Given the description of an element on the screen output the (x, y) to click on. 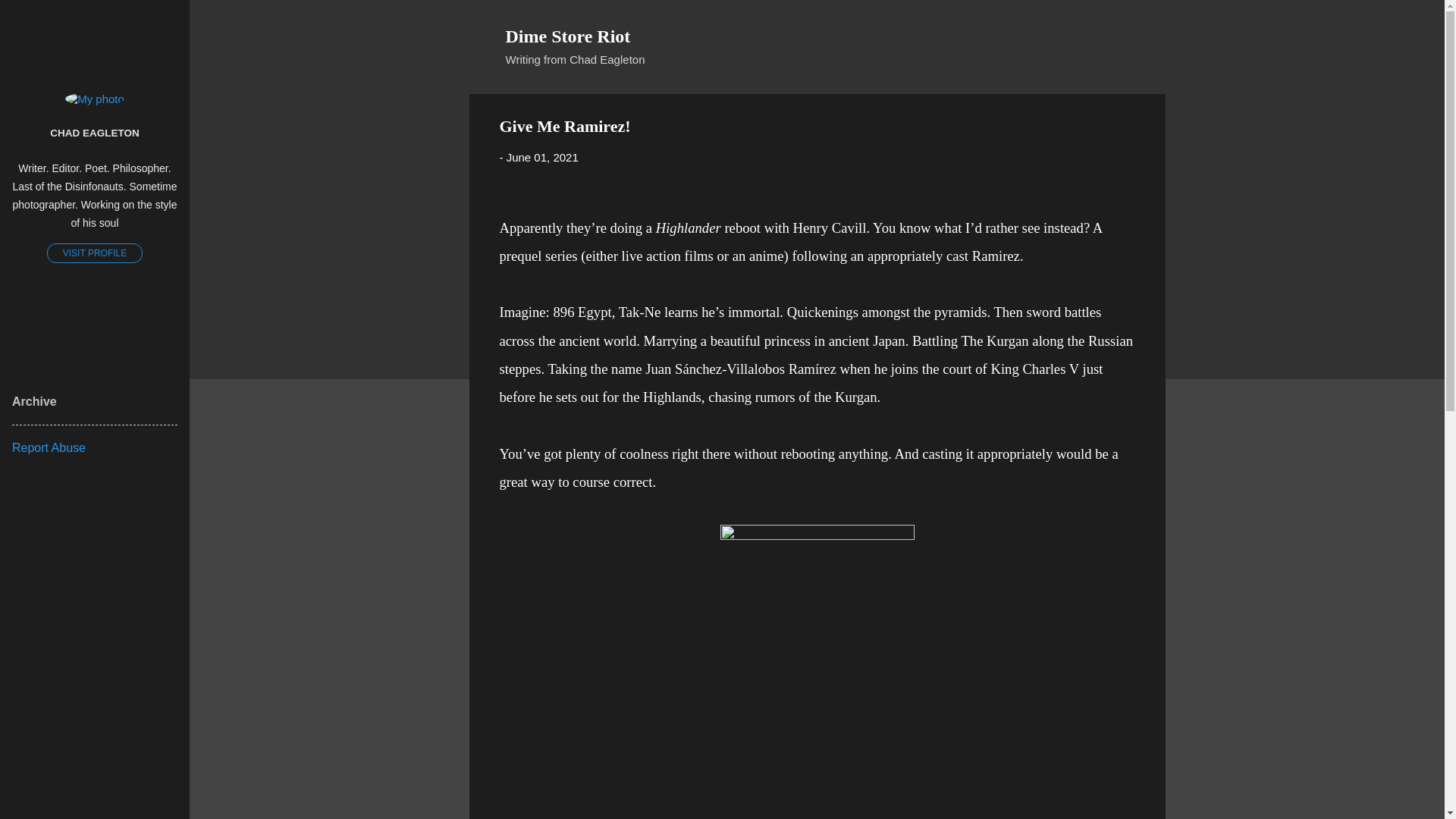
Dime Store Riot (567, 35)
permanent link (542, 156)
Search (29, 18)
June 01, 2021 (542, 156)
VISIT PROFILE (94, 252)
CHAD EAGLETON (94, 132)
